Given the description of an element on the screen output the (x, y) to click on. 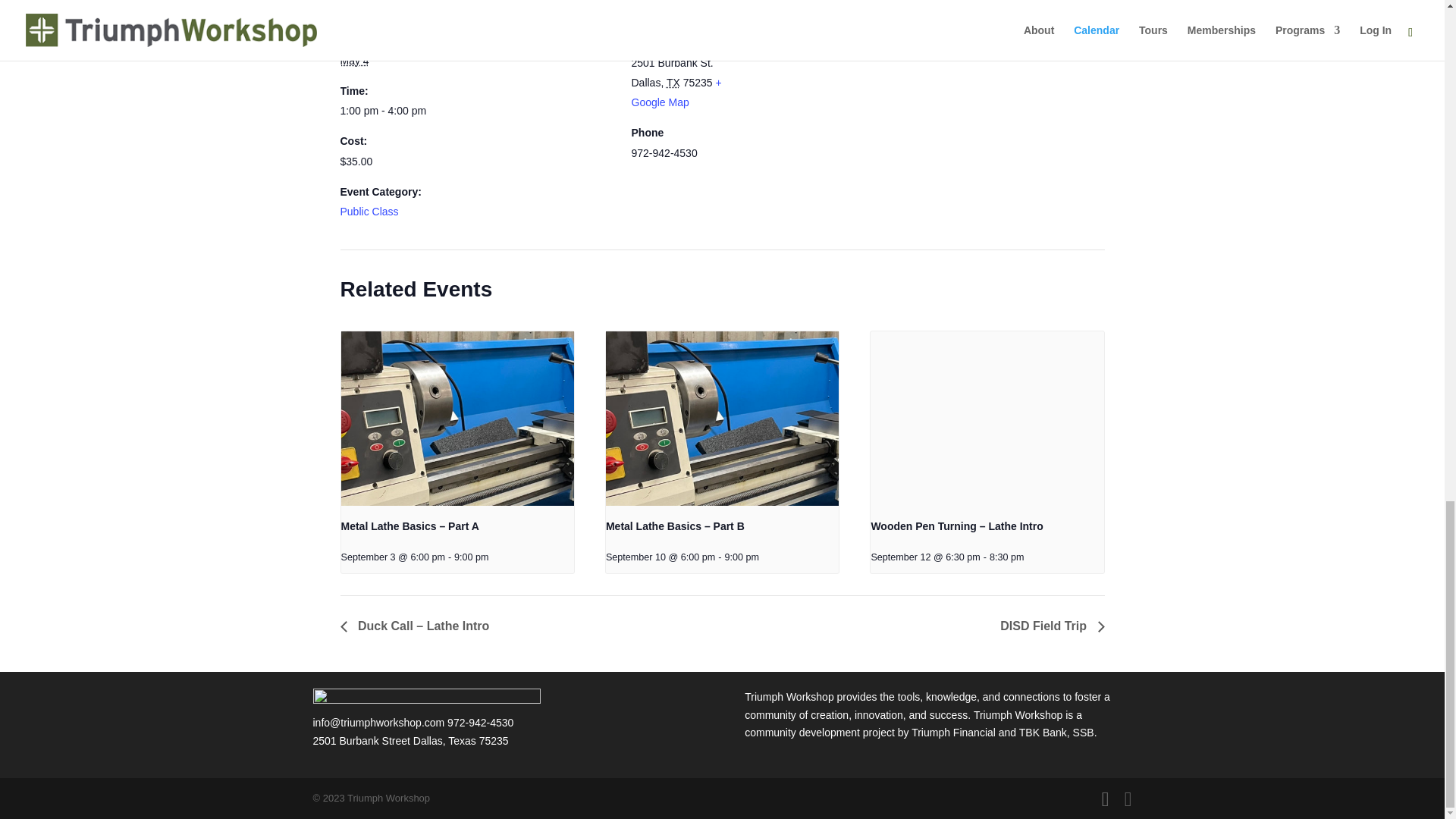
Robert S. (506, 39)
Click to view a Google Map (675, 92)
DISD Field Trip (1047, 625)
Triumph Financial (953, 732)
Texas (672, 82)
Public Class (368, 211)
Robert S. (506, 39)
TBK Bank, SSB (1056, 732)
Triumph Workshop (1018, 715)
